Given the description of an element on the screen output the (x, y) to click on. 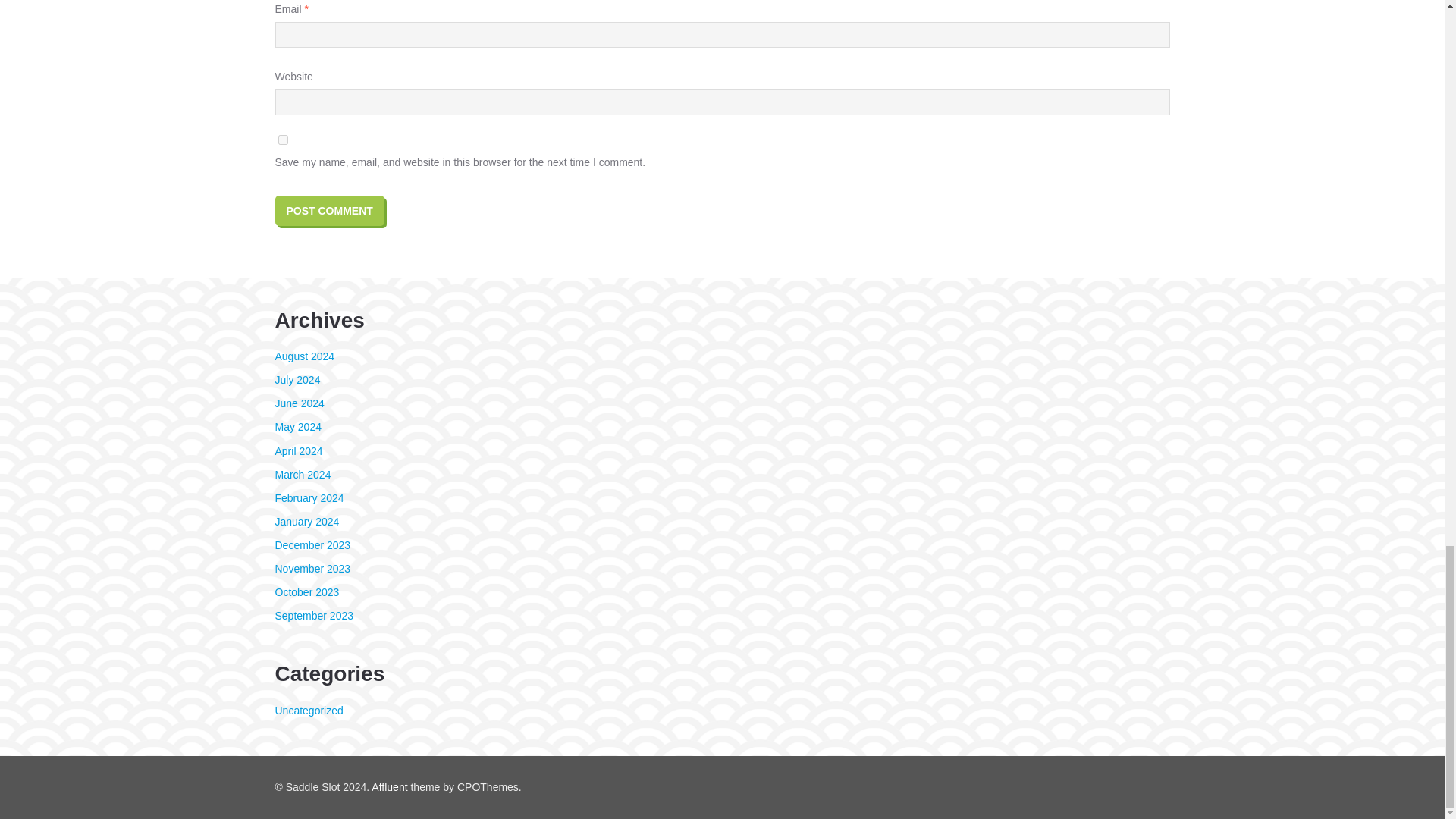
August 2024 (304, 356)
Post Comment (329, 210)
November 2023 (312, 568)
Uncategorized (308, 710)
June 2024 (299, 403)
March 2024 (302, 474)
Post Comment (329, 210)
July 2024 (297, 379)
December 2023 (312, 544)
February 2024 (309, 498)
